Given the description of an element on the screen output the (x, y) to click on. 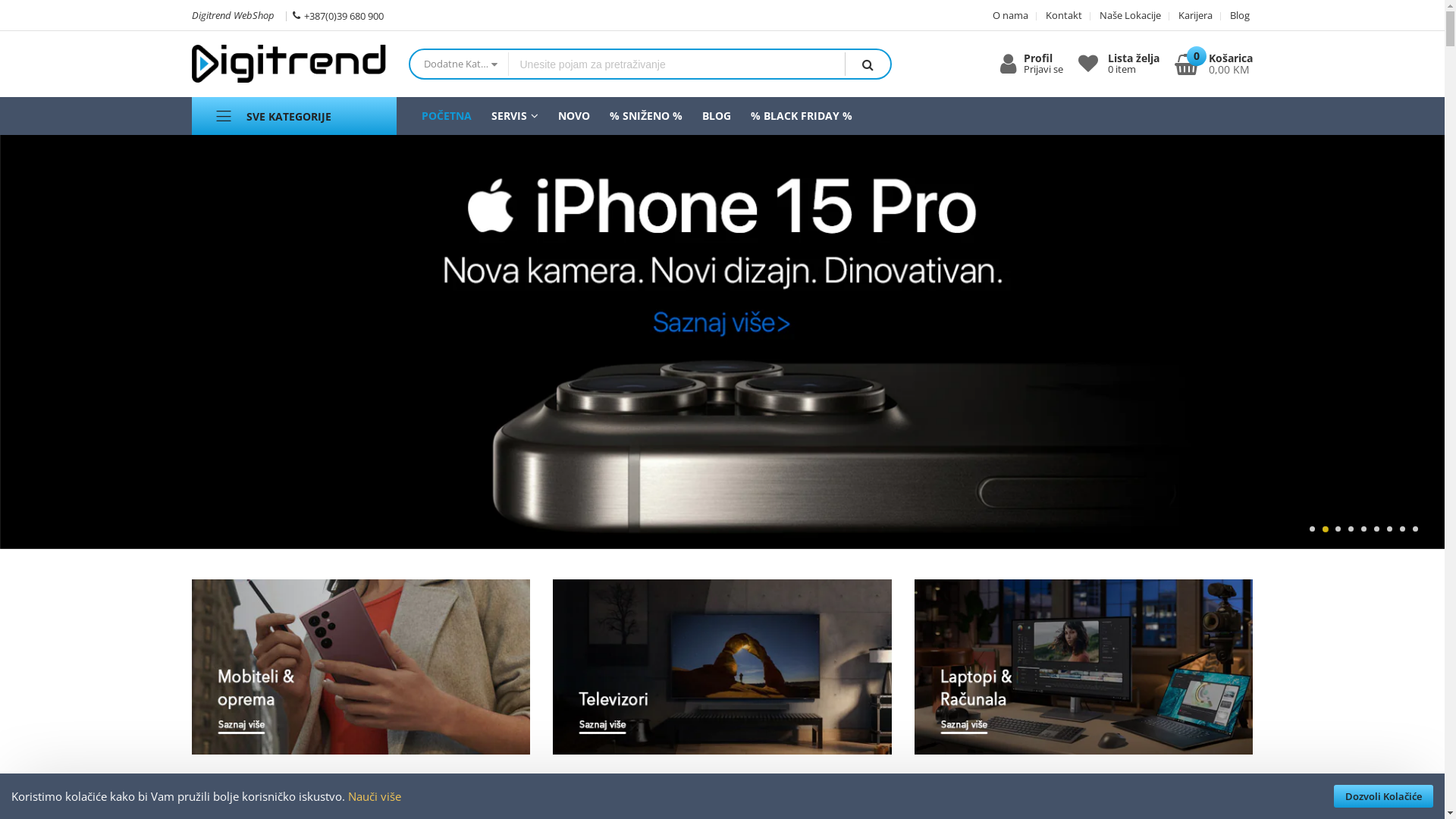
Kontakt Element type: text (1058, 15)
4 Element type: text (1350, 528)
5 Element type: text (1363, 528)
2 Element type: text (1324, 528)
3 Element type: text (1337, 528)
+387(0)39 680 900 Element type: text (337, 14)
Digitrend Element type: hover (288, 63)
Black Friday Element type: hover (722, 341)
1 Element type: text (1311, 528)
O nama Element type: text (1010, 15)
NOVO Element type: text (573, 115)
8 Element type: text (1402, 528)
BLOG Element type: text (715, 115)
Karijera Element type: text (1190, 15)
9 Element type: text (1415, 528)
% BLACK FRIDAY % Element type: text (800, 115)
SERVIS Element type: text (513, 115)
6 Element type: text (1376, 528)
7 Element type: text (1389, 528)
Blog Element type: text (1234, 15)
